Given the description of an element on the screen output the (x, y) to click on. 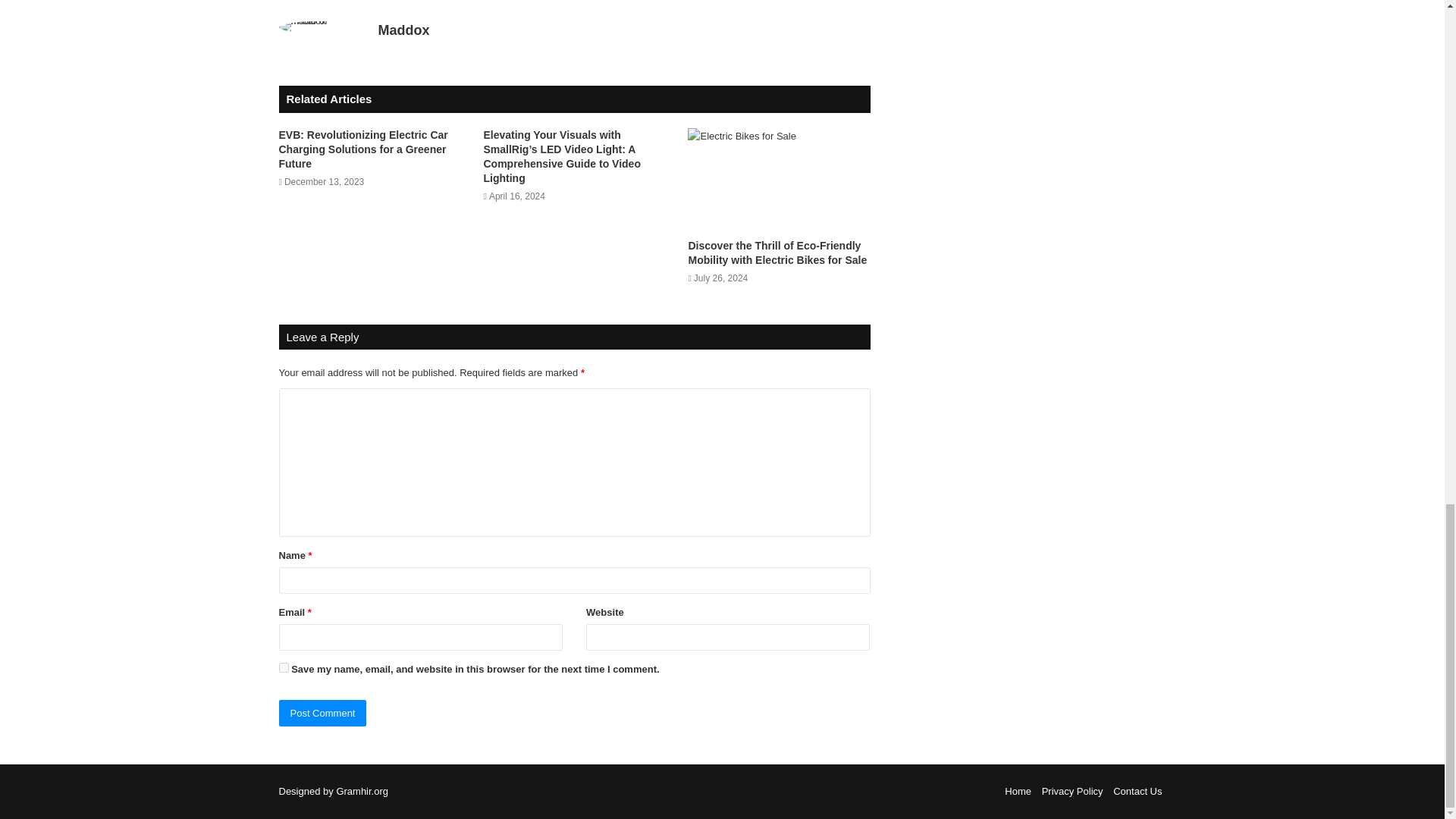
yes (283, 667)
Post Comment (322, 713)
Maddox (403, 29)
Post Comment (322, 713)
